Given the description of an element on the screen output the (x, y) to click on. 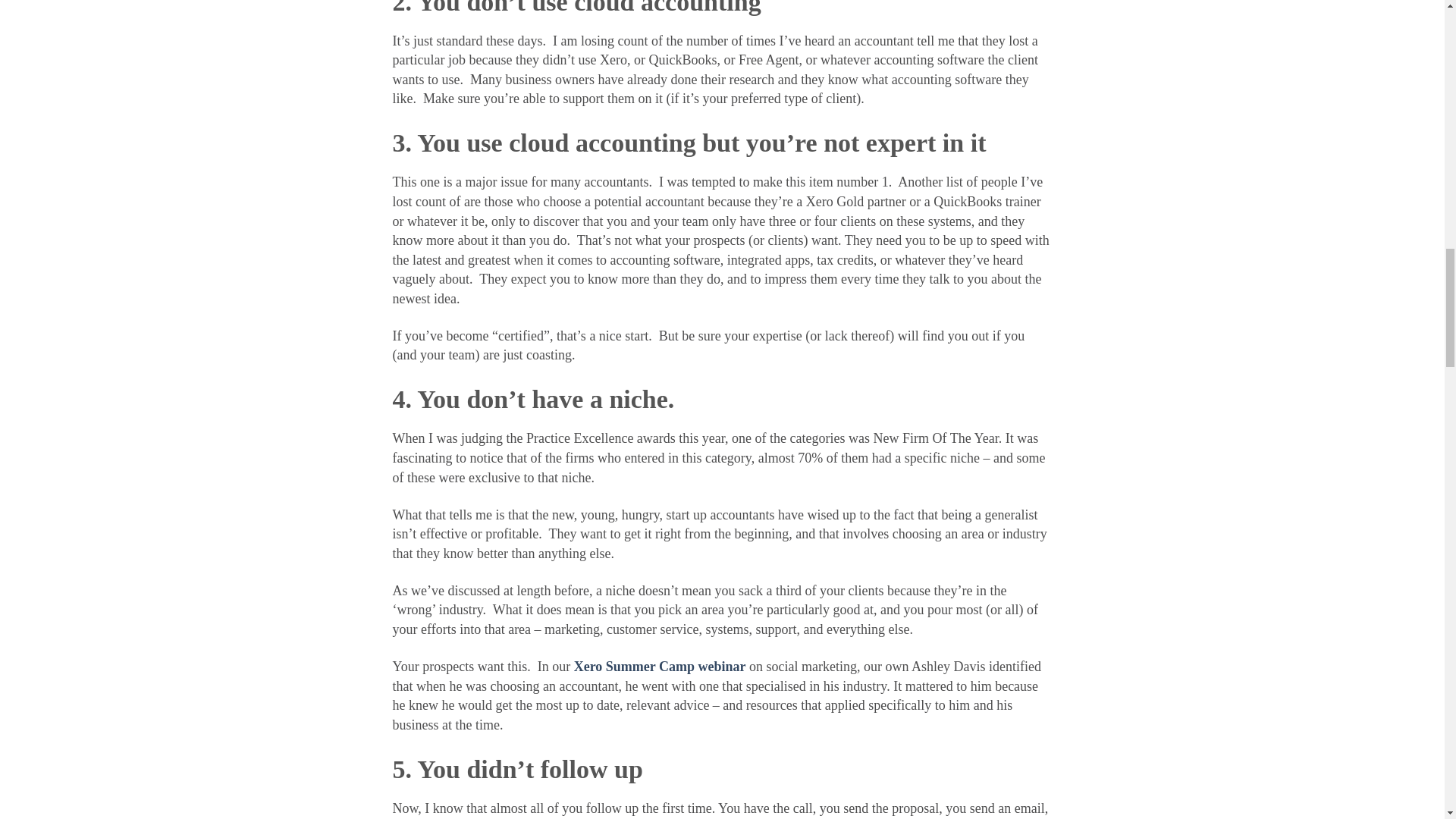
Xero Summer Camp webinar (659, 666)
